Given the description of an element on the screen output the (x, y) to click on. 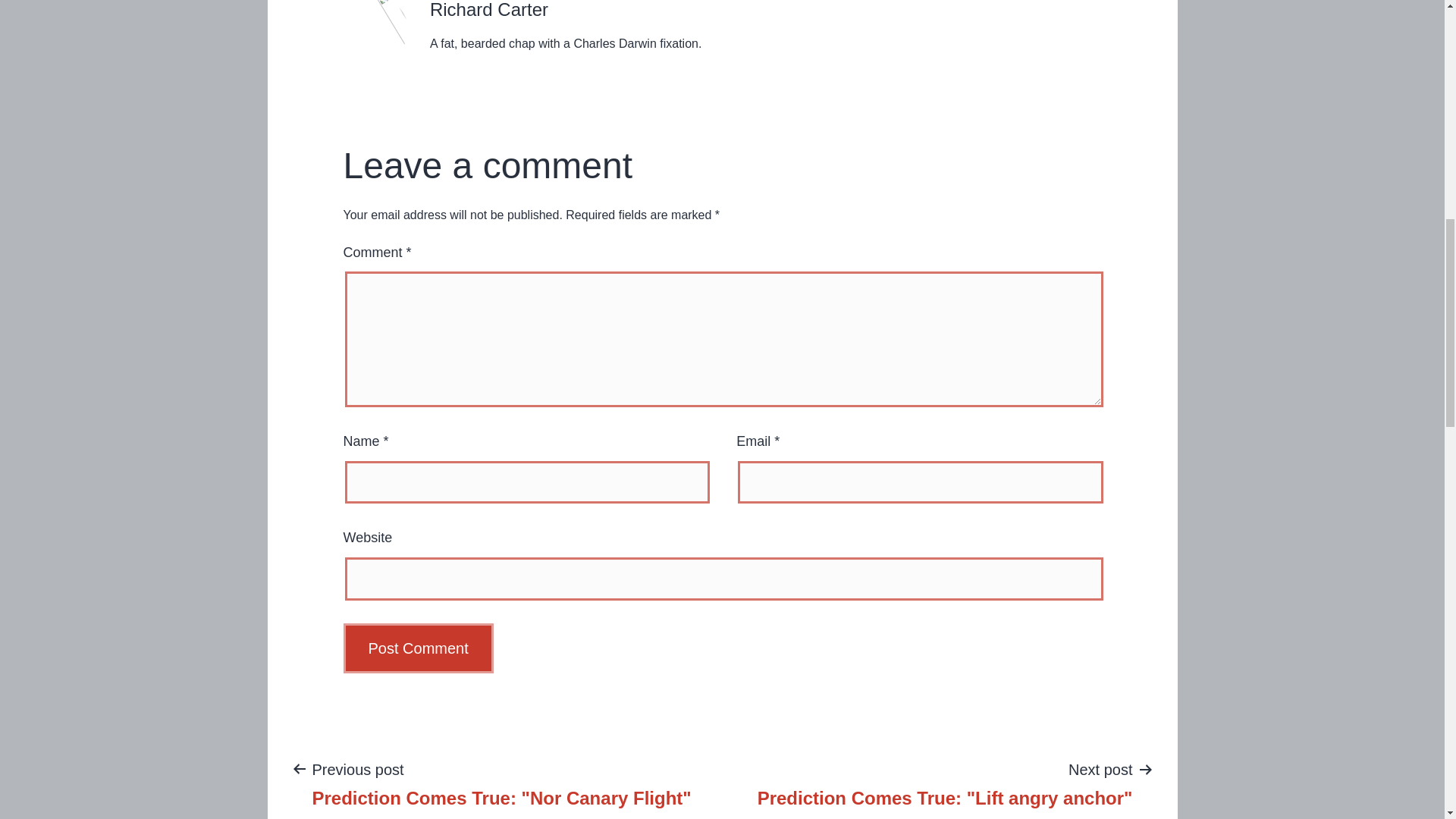
Post Comment (501, 782)
Post Comment (417, 648)
